Given the description of an element on the screen output the (x, y) to click on. 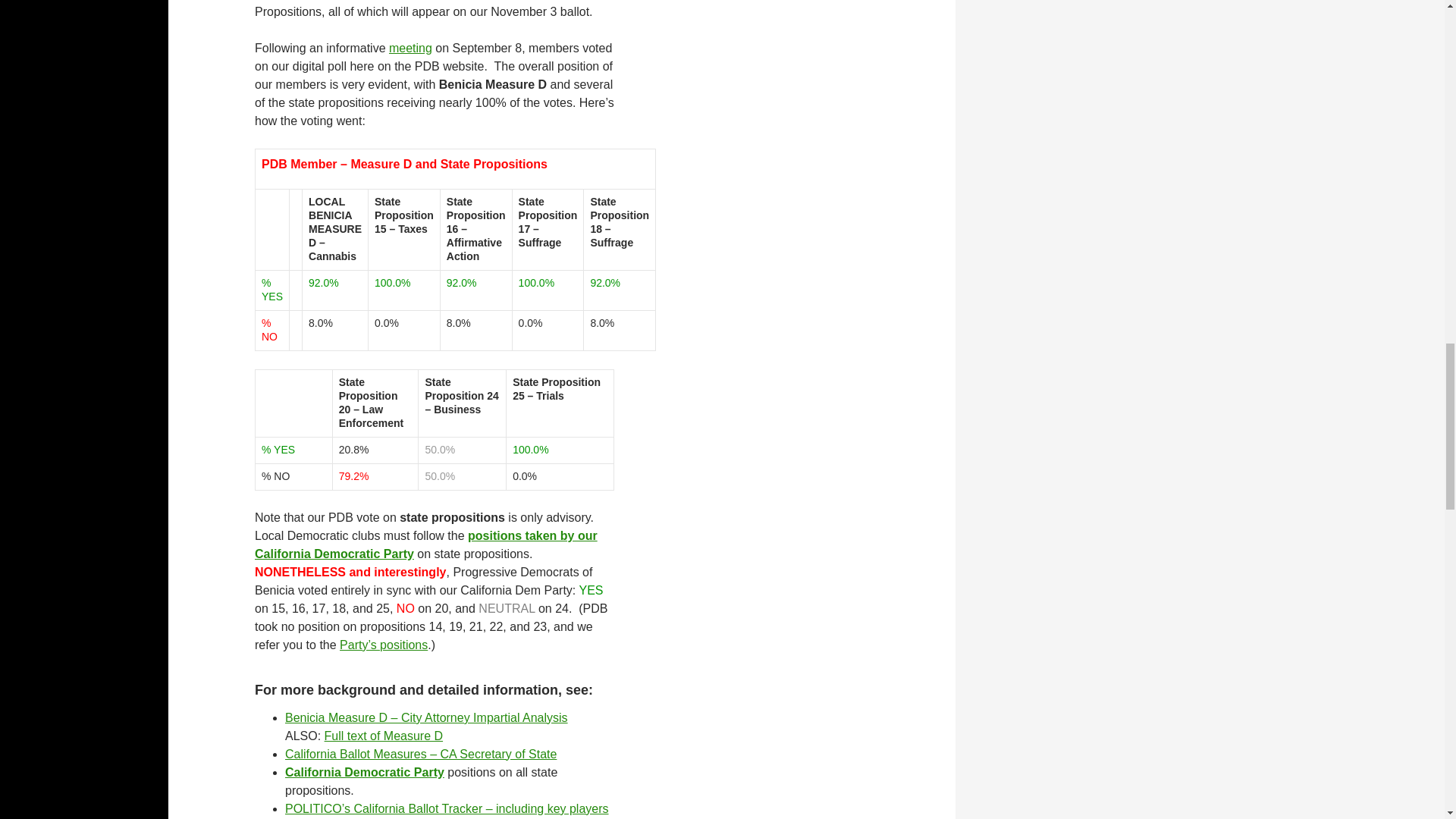
California Democratic Party (364, 771)
positions taken by our California Democratic Party (425, 544)
meeting (410, 47)
Full text of Measure D (384, 735)
